Given the description of an element on the screen output the (x, y) to click on. 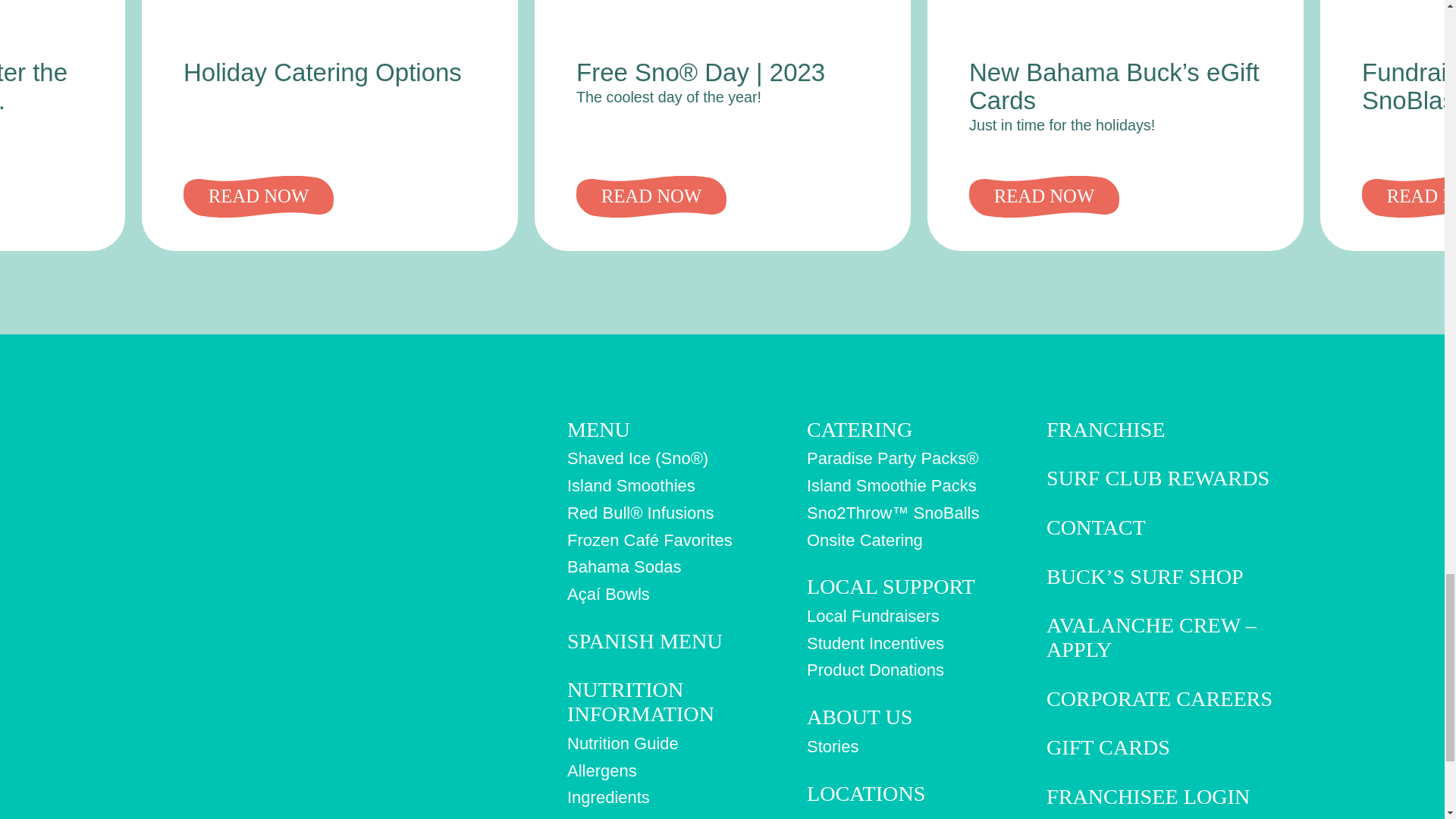
READ NOW (258, 196)
READ NOW (651, 196)
Holiday Catering Options (322, 72)
READ NOW (1044, 196)
